Given the description of an element on the screen output the (x, y) to click on. 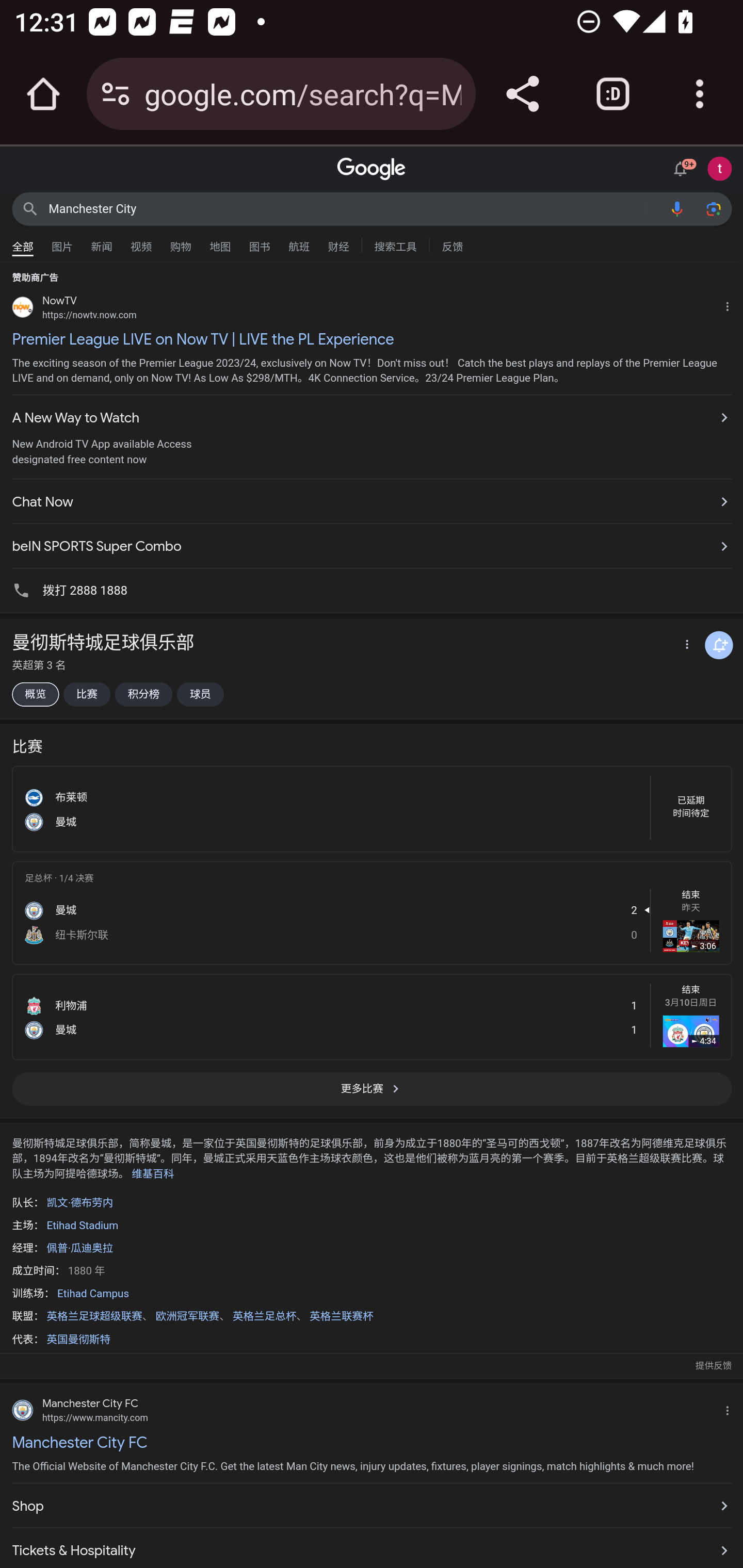
Open the home page (43, 93)
Connection is secure (115, 93)
Share (522, 93)
Switch or close tabs (612, 93)
Customize and control Google Chrome (699, 93)
Google (371, 169)
有 9 条以上的新通知 (683, 166)
Google 账号： test appium (testappium002@gmail.com) (719, 168)
Google 搜索 (29, 208)
使用拍照功能或照片进行搜索 (712, 208)
Manchester City (353, 208)
图片 (62, 241)
新闻 (101, 241)
视频 (141, 241)
购物 (180, 241)
地图 (219, 241)
图书 (259, 241)
航班 (299, 241)
财经 (338, 241)
搜索工具 (395, 244)
反馈 (452, 244)
为什么会显示该广告？ (731, 303)
Chat Now (371, 502)
beIN SPORTS Super Combo (371, 541)
拨打 2888 1888 (371, 589)
接收关于“曼彻斯特城足球俱乐部”的通知 (718, 644)
更多选项 (685, 645)
概览 (34, 694)
比赛 (86, 694)
积分榜 (143, 694)
球员 (199, 694)
已延期 时间待定 布莱顿 曼城 已延期 时间待定 已延期 时间待定 布莱顿 布莱顿 曼城 曼城 (371, 808)
更多比赛 (371, 1094)
维基百科 (152, 1173)
凯文·德布劳内 (79, 1202)
Etihad Stadium (82, 1224)
佩普·瓜迪奥拉 (79, 1247)
Etihad Campus (92, 1293)
英格兰足球超级联赛 (94, 1316)
欧洲冠军联赛 (186, 1316)
英格兰足总杯 (263, 1316)
英格兰联赛杯 (340, 1316)
英国曼彻斯特 (78, 1338)
提供反馈 (713, 1365)
Manchester City FC (371, 1442)
Shop (371, 1505)
Tickets & Hospitality (371, 1548)
